Given the description of an element on the screen output the (x, y) to click on. 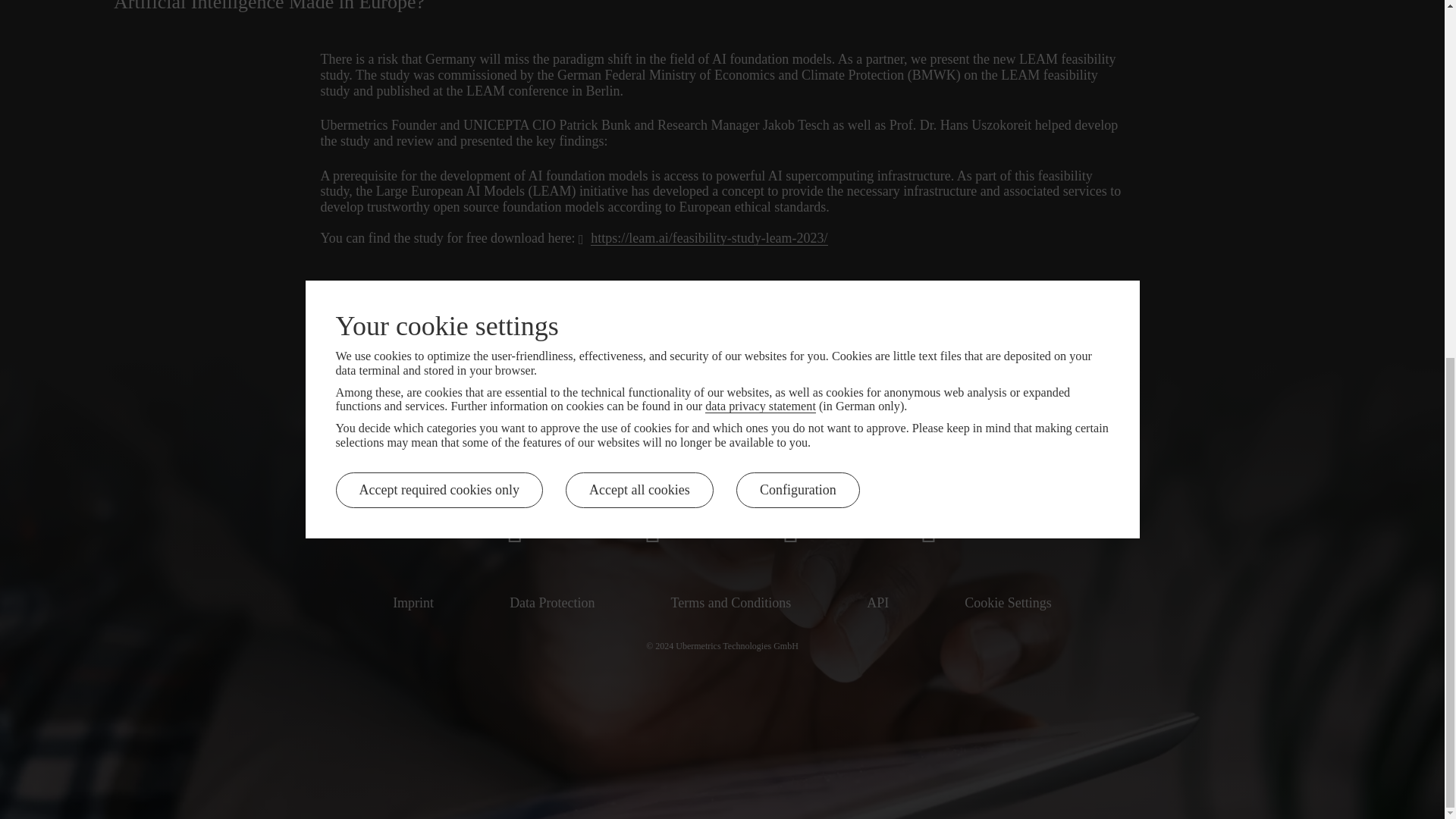
Data Protection (551, 602)
API (877, 602)
Imprint (413, 602)
Cookie Settings (1007, 602)
Terms and Conditions (731, 602)
